Given the description of an element on the screen output the (x, y) to click on. 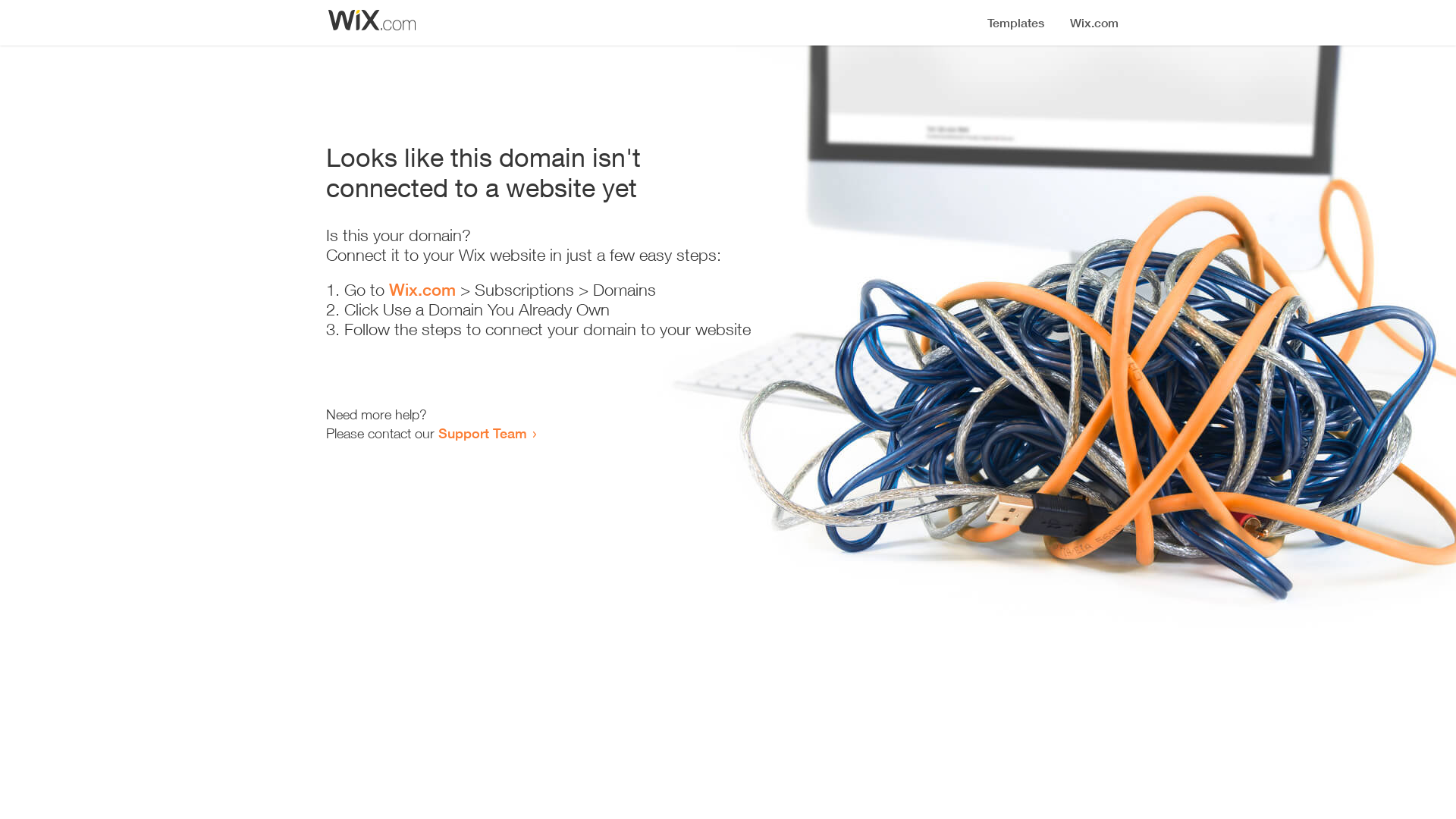
Support Team Element type: text (482, 432)
Wix.com Element type: text (422, 289)
